Given the description of an element on the screen output the (x, y) to click on. 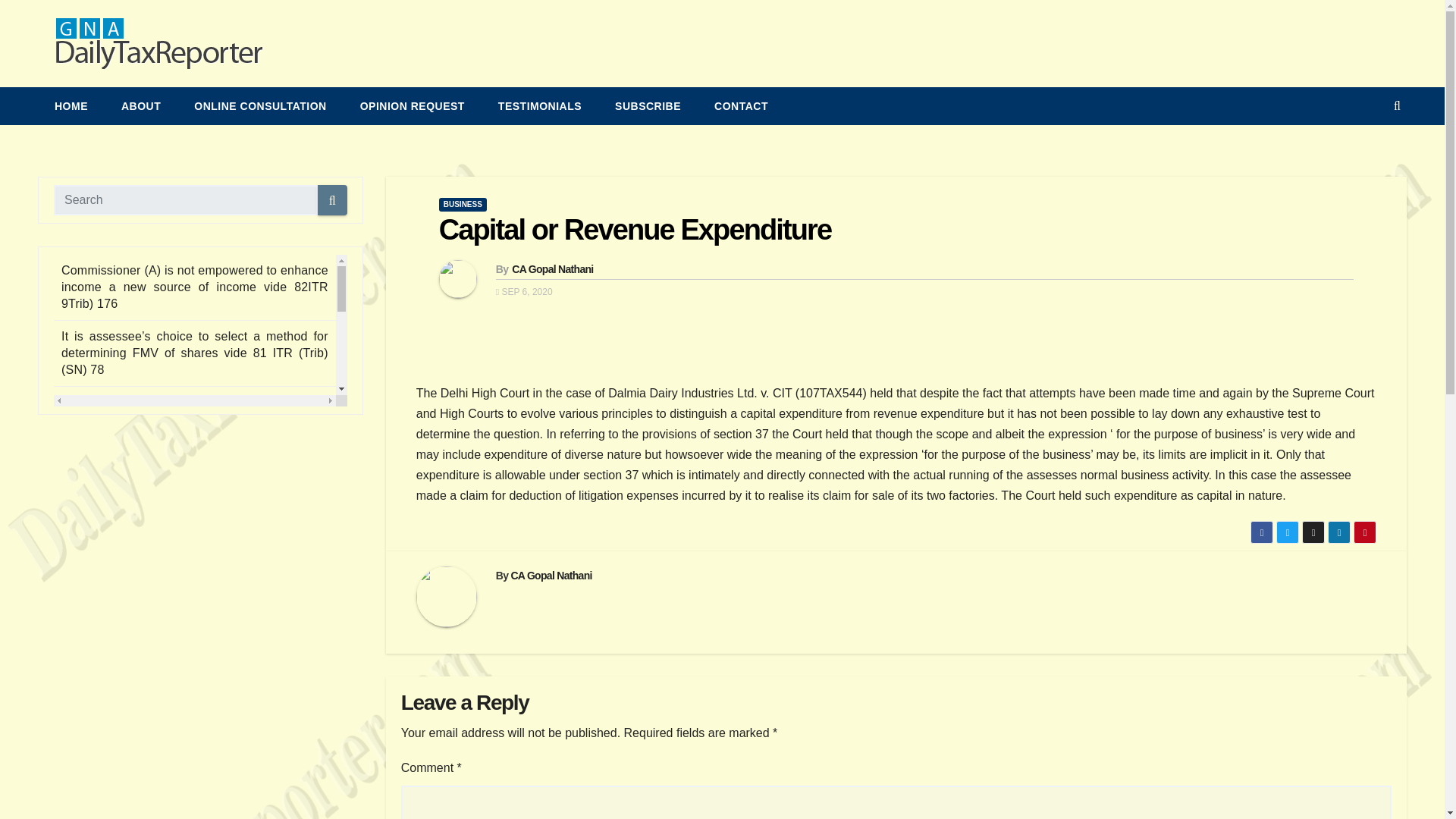
SUBSCRIBE (647, 105)
CONTACT (740, 105)
TESTIMONIALS (539, 105)
HOME (70, 105)
OPINION REQUEST (412, 105)
ONLINE CONSULTATION (259, 105)
ABOUT (140, 105)
Permalink to: Capital or Revenue Expenditure (635, 229)
